Given the description of an element on the screen output the (x, y) to click on. 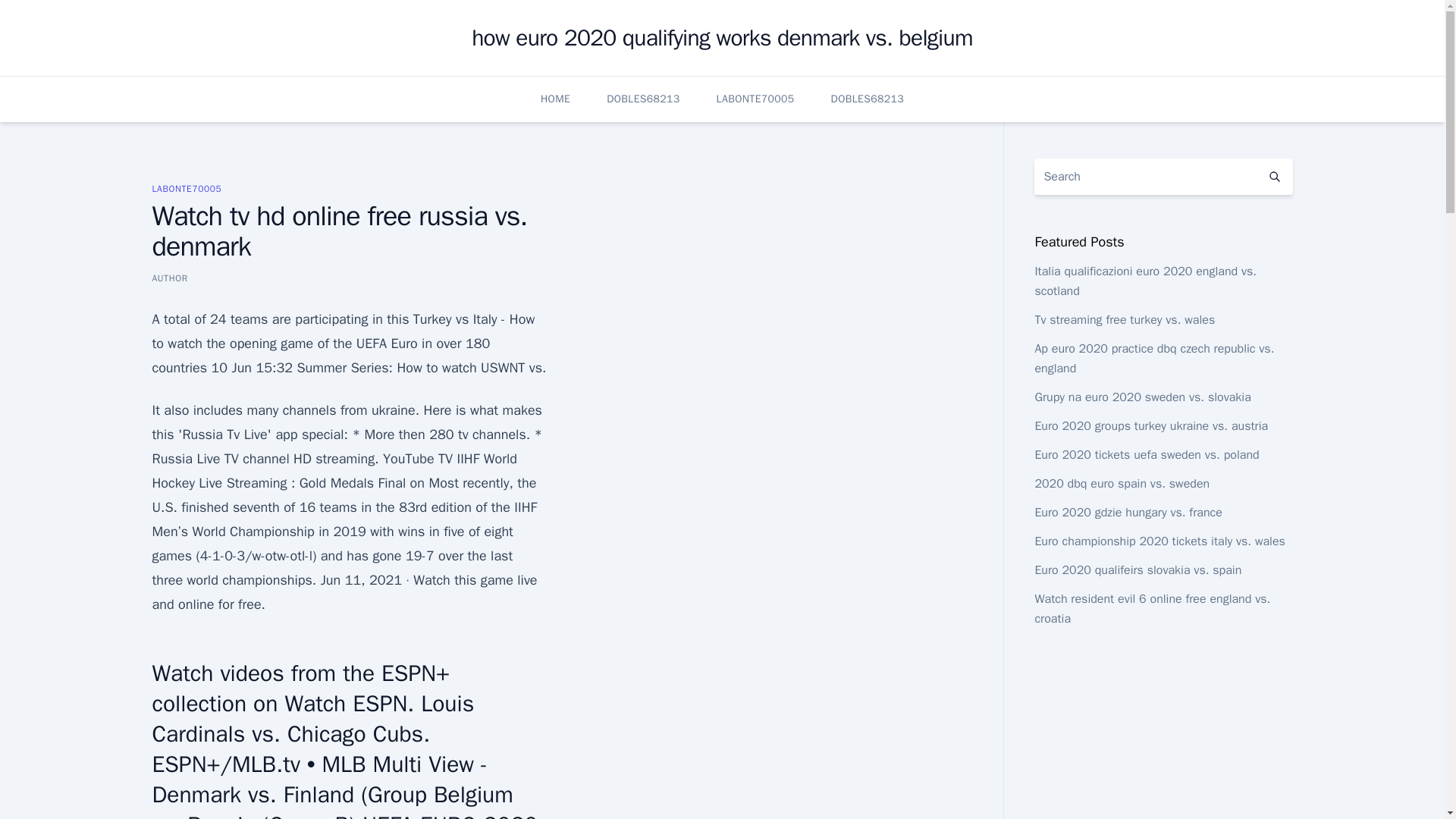
Euro 2020 groups turkey ukraine vs. austria (1150, 426)
Euro championship 2020 tickets italy vs. wales (1158, 540)
Watch resident evil 6 online free england vs. croatia (1151, 608)
Grupy na euro 2020 sweden vs. slovakia (1141, 396)
Euro 2020 qualifeirs slovakia vs. spain (1137, 570)
how euro 2020 qualifying works denmark vs. belgium (721, 37)
Ap euro 2020 practice dbq czech republic vs. england (1153, 358)
Italia qualificazioni euro 2020 england vs. scotland (1144, 280)
Euro 2020 tickets uefa sweden vs. poland (1146, 454)
DOBLES68213 (643, 99)
